Given the description of an element on the screen output the (x, y) to click on. 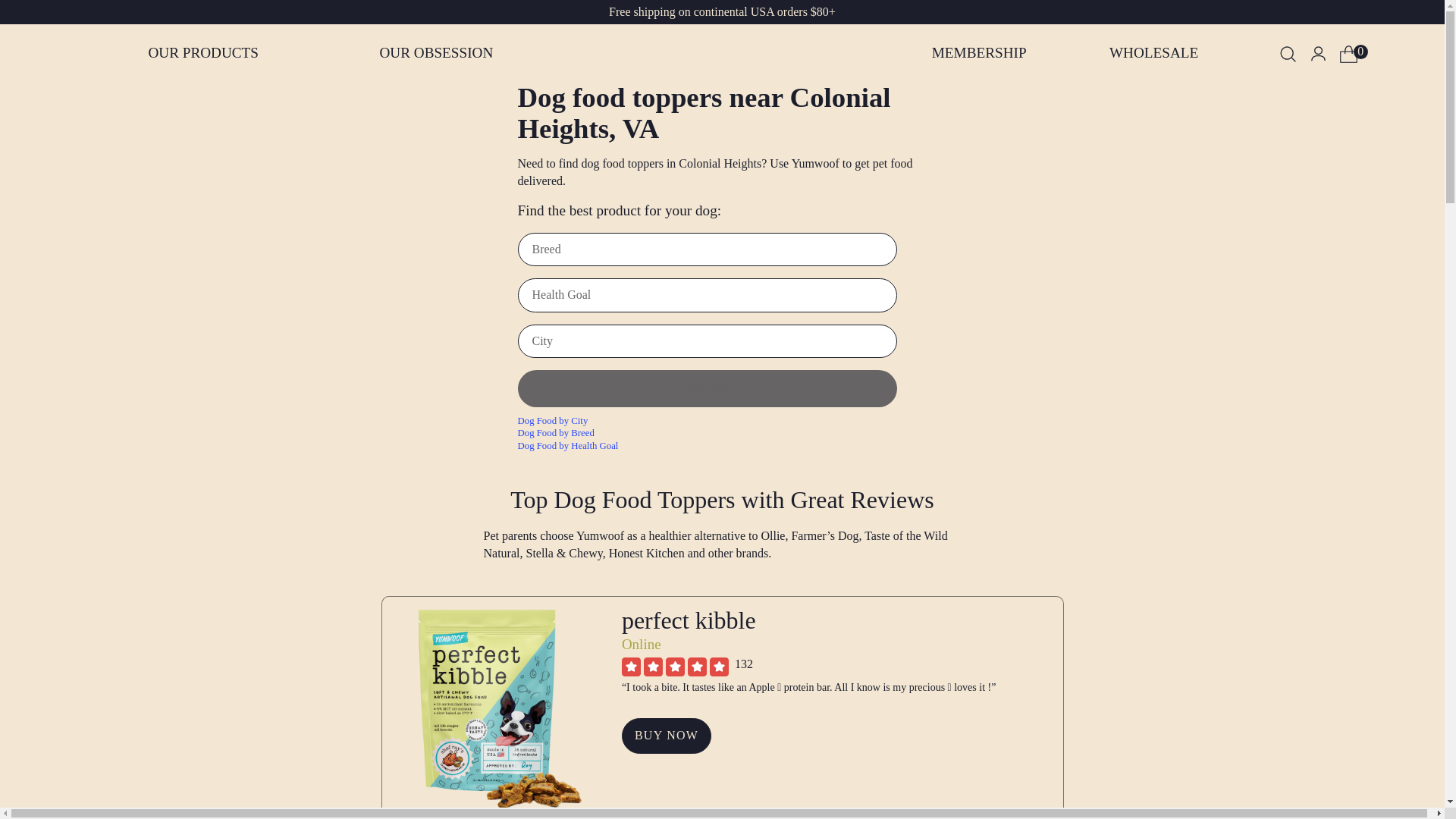
Search (706, 388)
Dog Food by Breed (721, 432)
WHOLESALE (1152, 53)
OUR OBSESSION (435, 53)
BUY NOW (666, 735)
OUR PRODUCTS (202, 53)
Dog Food by City (721, 420)
Search (706, 388)
MEMBERSHIP (978, 53)
Dog Food by Health Goal (721, 445)
